Given the description of an element on the screen output the (x, y) to click on. 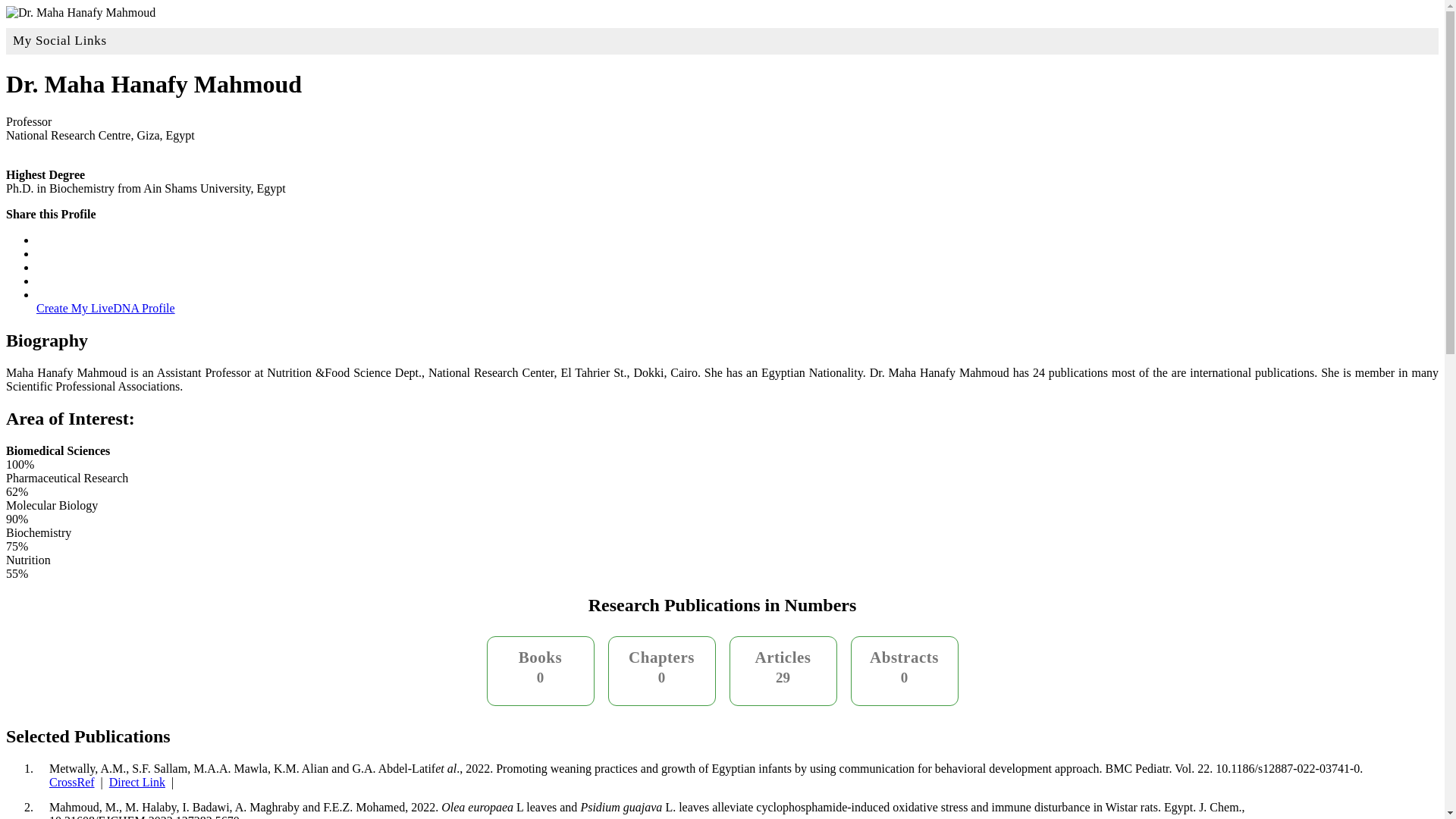
CrossRef (71, 781)
Direct Link (137, 781)
Create My LiveDNA Profile (105, 308)
Register yourself at LiveDNA (105, 308)
